Given the description of an element on the screen output the (x, y) to click on. 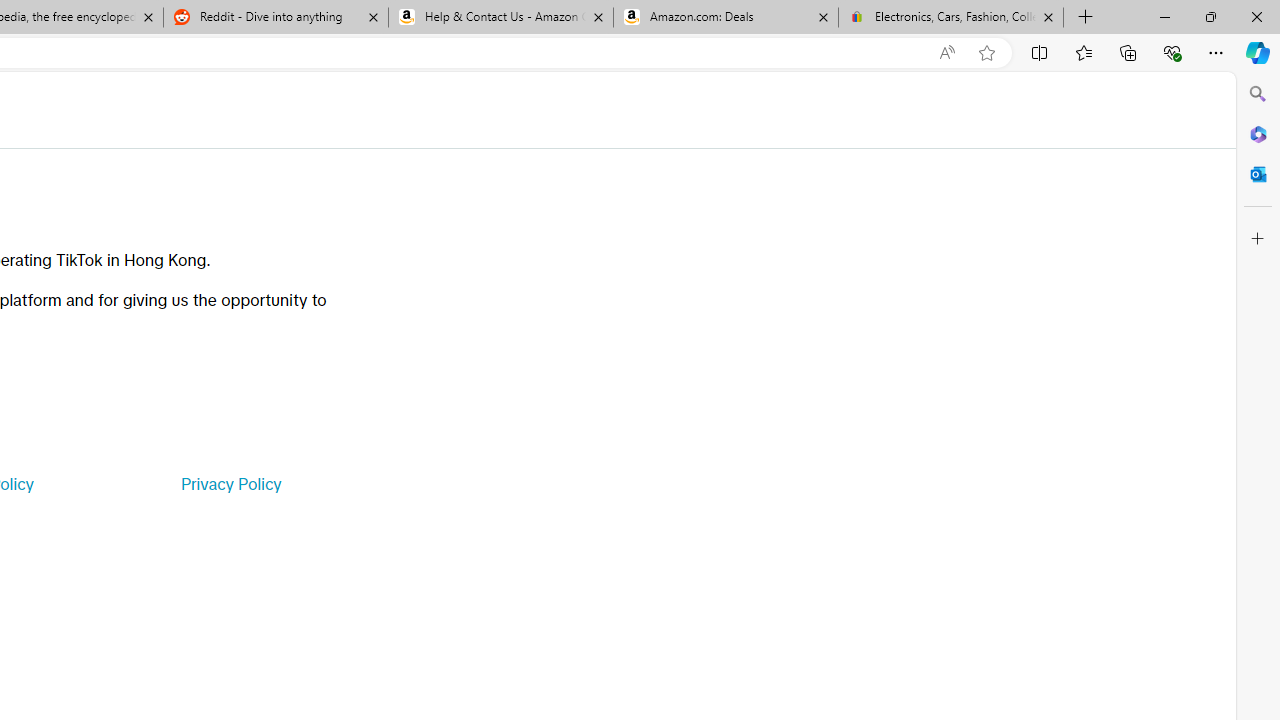
Privacy Policy (230, 484)
